Given the description of an element on the screen output the (x, y) to click on. 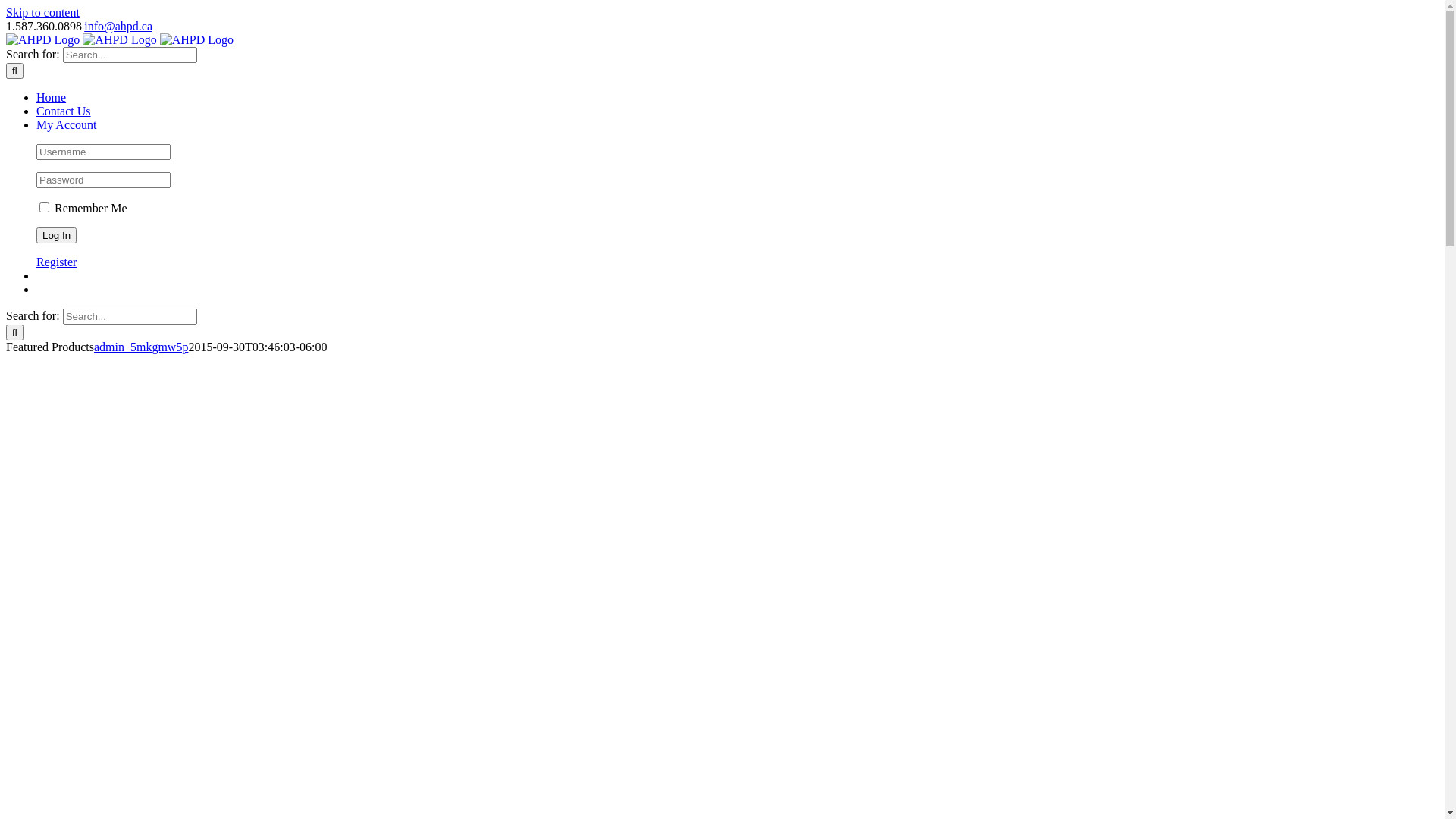
admin_5mkgmw5p Element type: text (141, 346)
Log In Element type: text (56, 235)
My Account Element type: text (66, 124)
Register Element type: text (56, 261)
Home Element type: text (50, 97)
Contact Us Element type: text (63, 110)
Skip to content Element type: text (42, 12)
info@ahpd.ca Element type: text (118, 25)
